Given the description of an element on the screen output the (x, y) to click on. 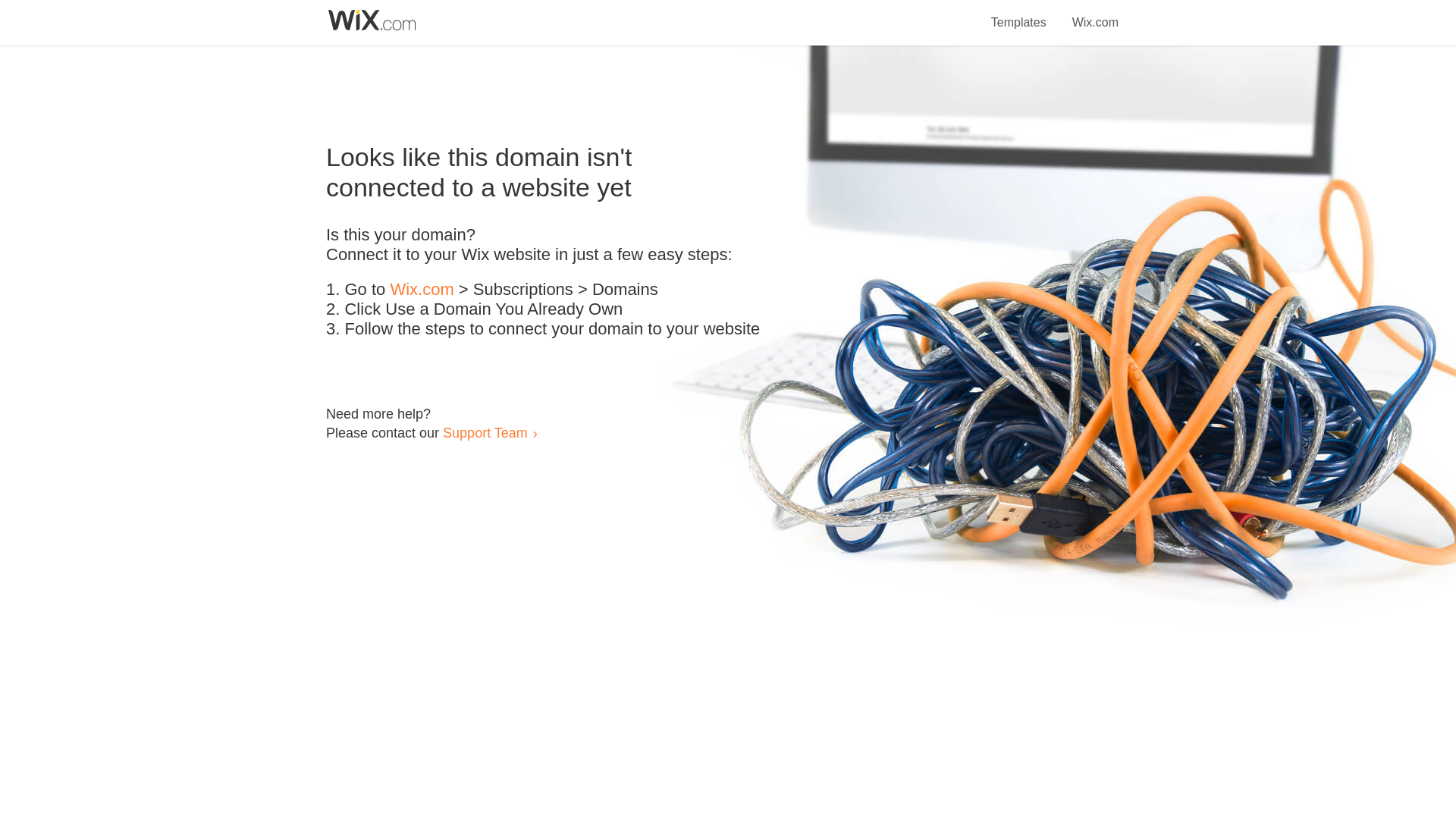
Templates (1018, 14)
Wix.com (421, 289)
Support Team (484, 432)
Wix.com (1095, 14)
